Given the description of an element on the screen output the (x, y) to click on. 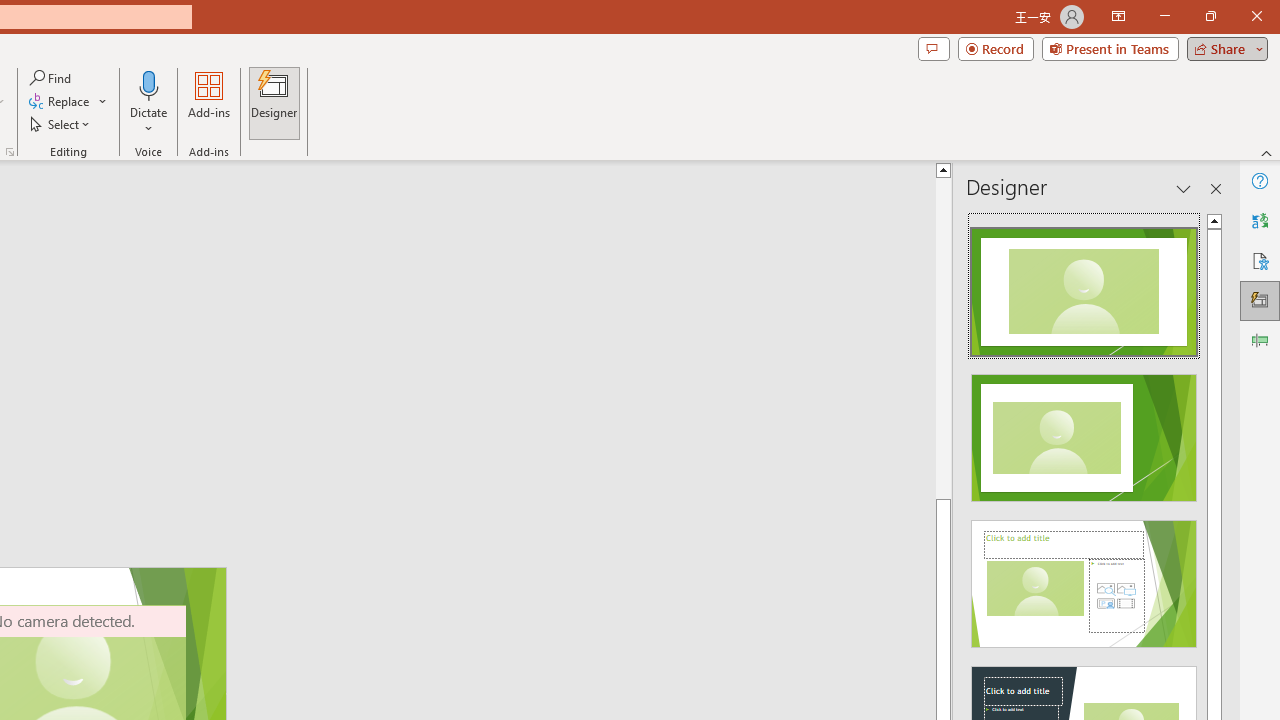
Animation Pane (1260, 340)
Design Idea (1083, 577)
